Given the description of an element on the screen output the (x, y) to click on. 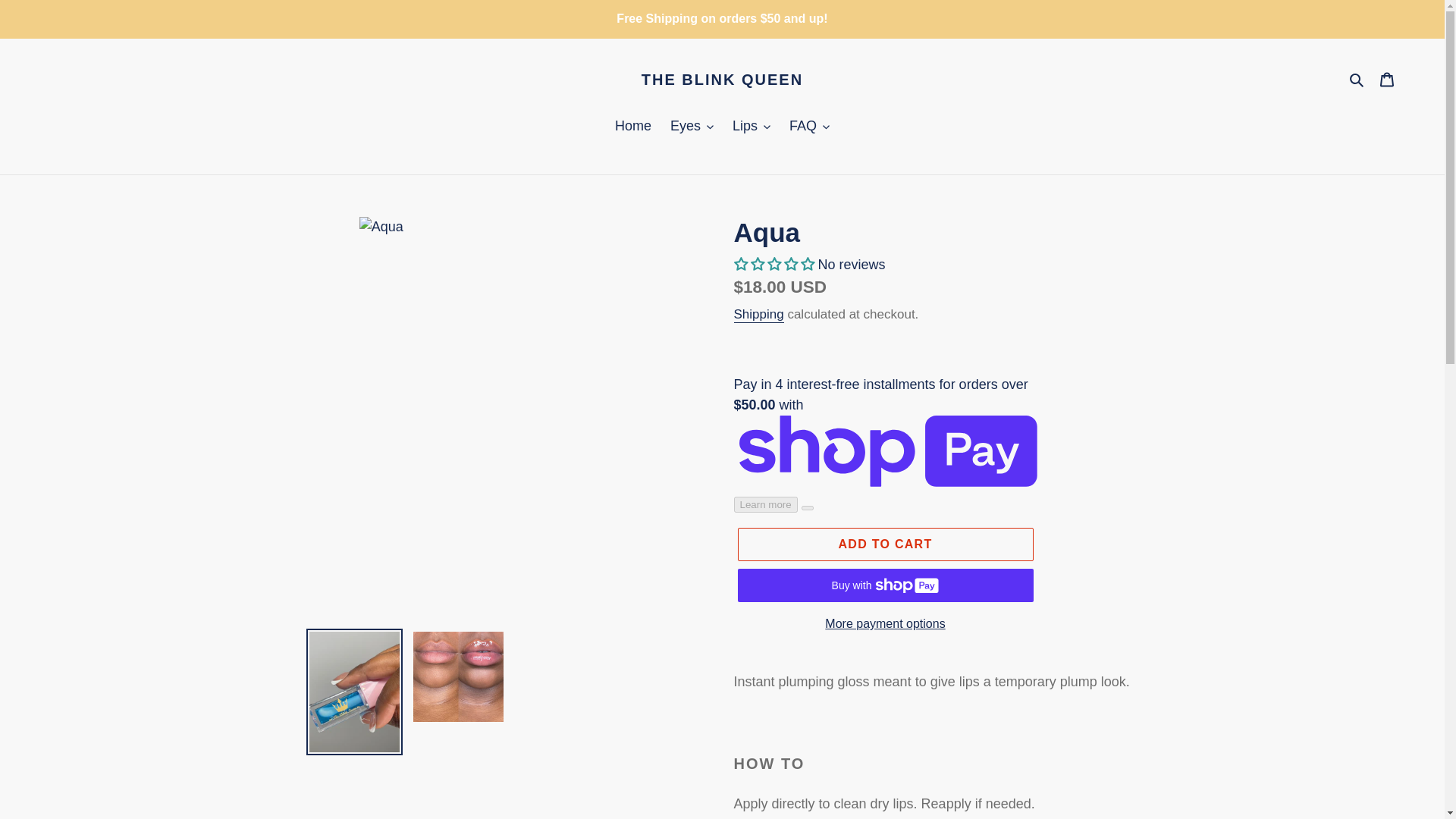
Search (1357, 78)
Cart (1387, 79)
Eyes (691, 127)
THE BLINK QUEEN (722, 78)
Home (633, 127)
Lips (751, 127)
